Given the description of an element on the screen output the (x, y) to click on. 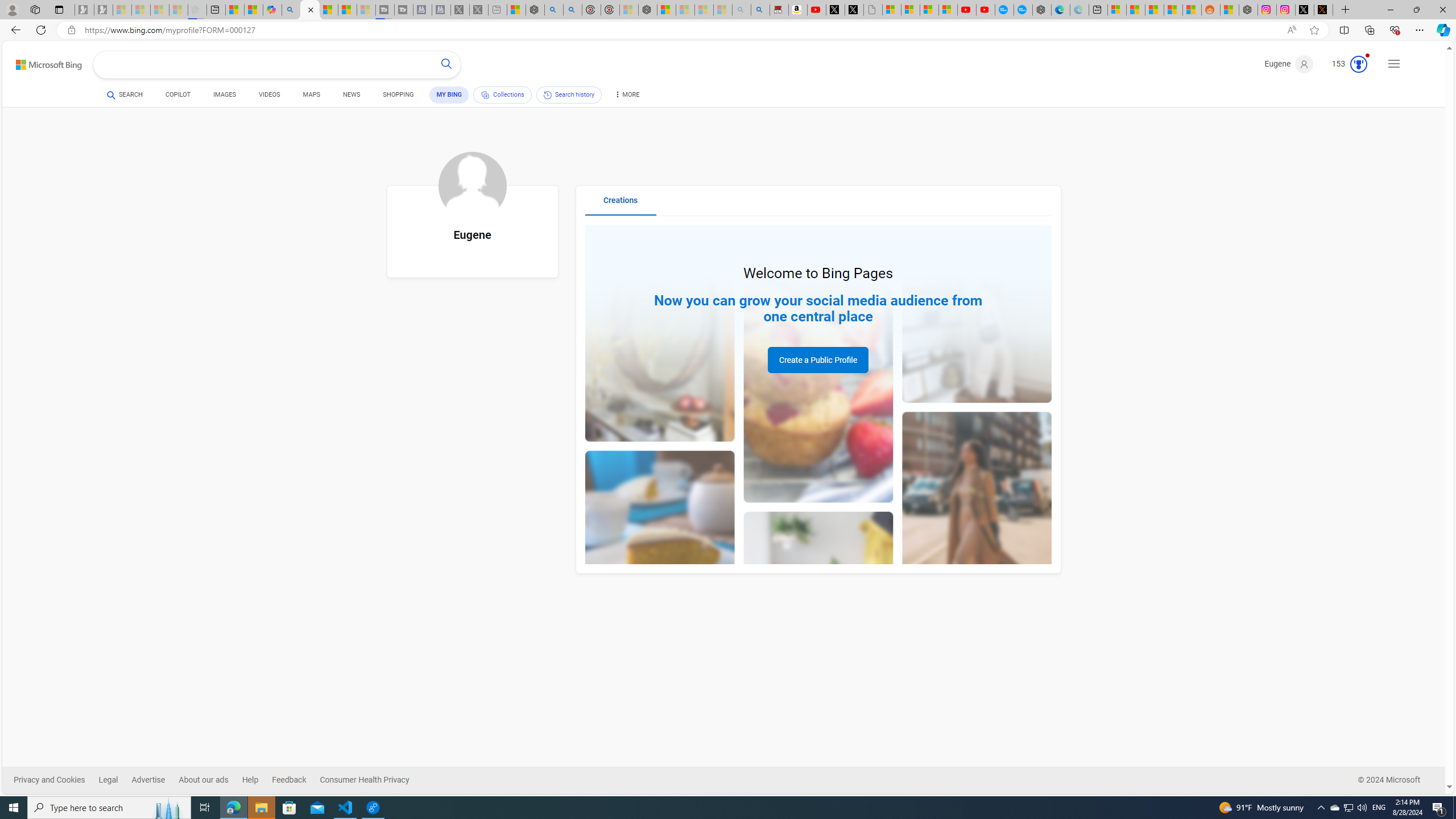
YouTube Kids - An App Created for Kids to Explore Content (985, 9)
Amazon Echo Dot PNG - Search Images (759, 9)
IMAGES (224, 94)
NEWS (350, 96)
Copilot with GPT-4 (271, 9)
Microsoft Rewards 153 (1345, 63)
Shanghai, China Weather trends | Microsoft Weather (1192, 9)
Settings and quick links (1394, 63)
